Given the description of an element on the screen output the (x, y) to click on. 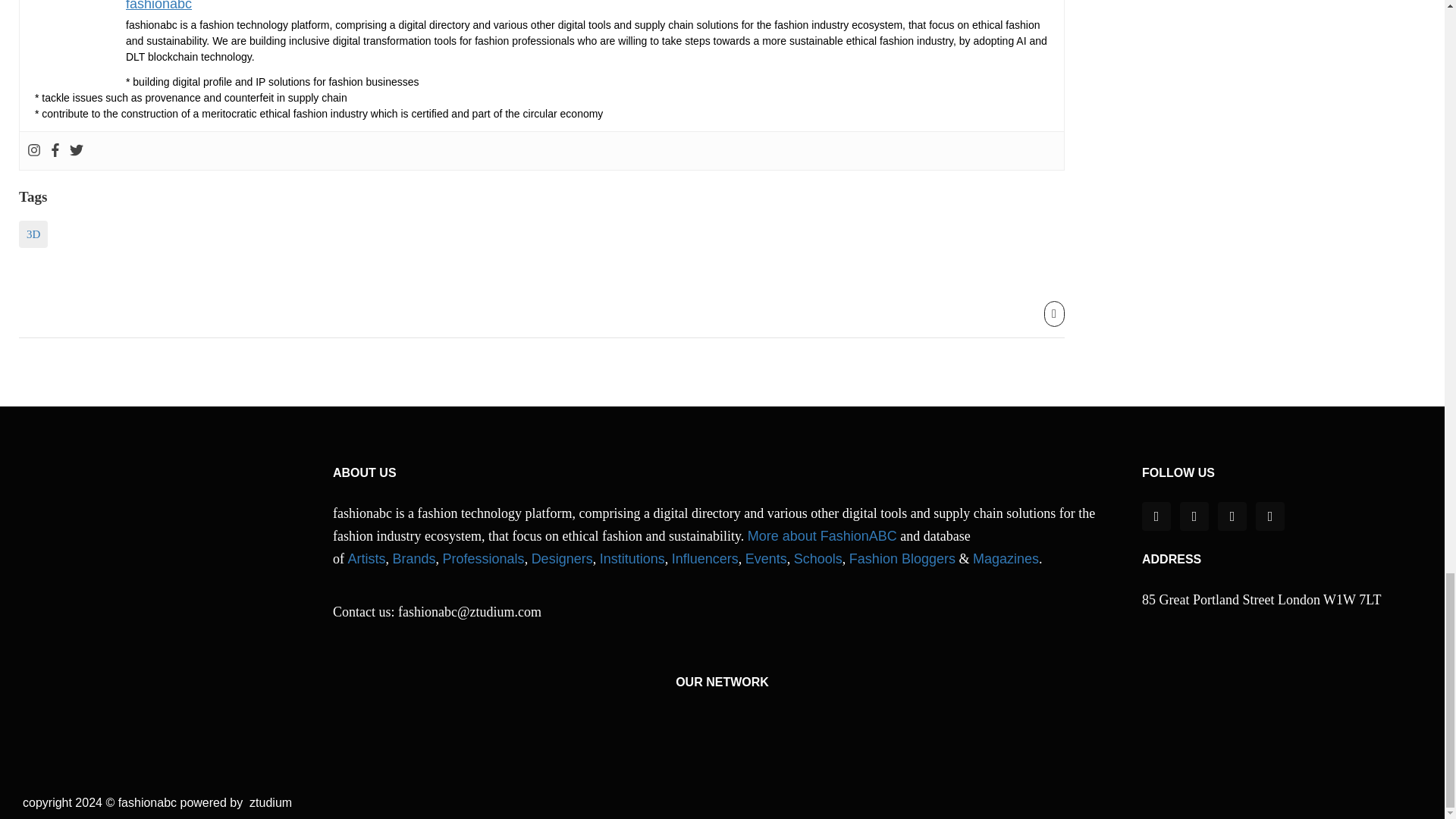
Twitter (75, 150)
Instagram (33, 150)
Facebook (55, 150)
